Given the description of an element on the screen output the (x, y) to click on. 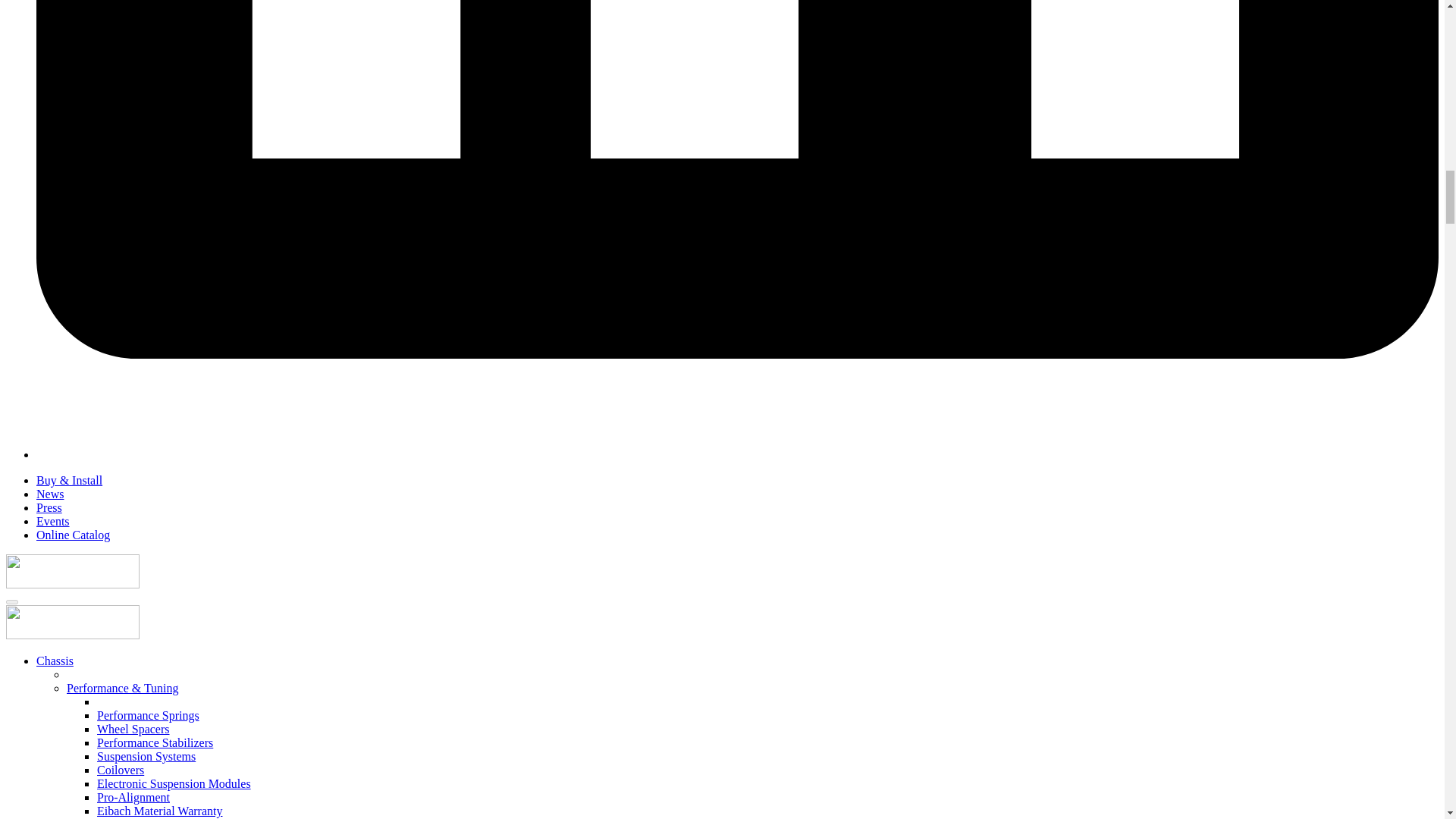
Pro-Alignment (133, 797)
News (50, 493)
Performance Springs (148, 715)
Wheel Spacers (133, 728)
Suspension Systems (146, 756)
Coilovers (120, 769)
Events (52, 521)
Electronic Suspension Modules (173, 783)
Online Catalog (73, 534)
Chassis (55, 660)
Eibach Material Warranty (159, 810)
Press (49, 507)
Performance Stabilizers (154, 742)
